Given the description of an element on the screen output the (x, y) to click on. 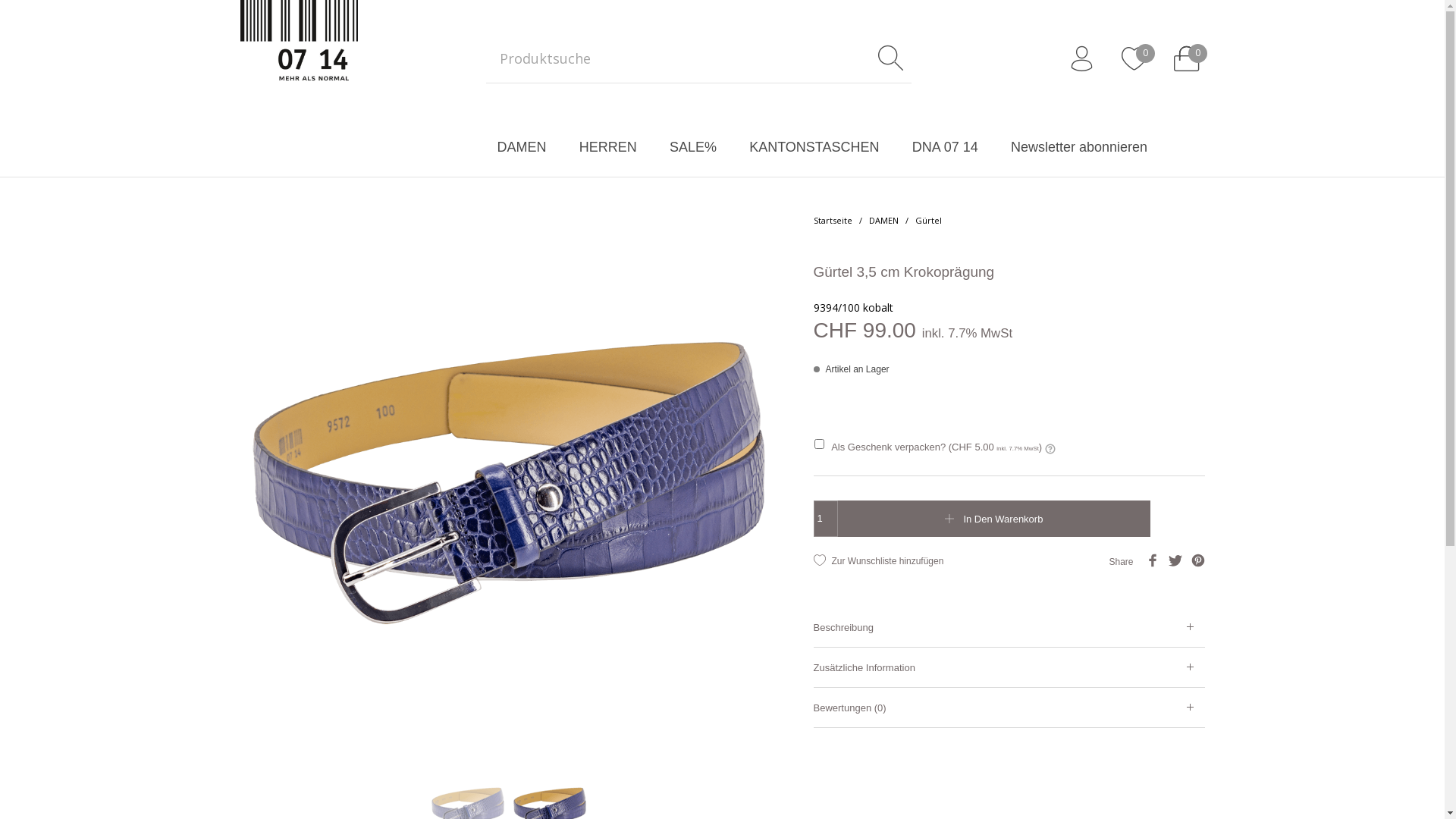
Bewertungen (0) Element type: text (1008, 707)
0 Element type: text (1186, 58)
DNA 07 14 Element type: text (944, 147)
SALE% Element type: text (692, 147)
07 14 Element type: hover (298, 58)
Newsletter abonnieren Element type: text (1078, 147)
KANTONSTASCHEN Element type: text (814, 147)
Beschreibung Element type: text (1008, 626)
DAMEN Element type: text (883, 219)
Startseite Element type: text (831, 219)
HERREN Element type: text (607, 147)
0714_9394_kobalt_V.png Element type: hover (507, 481)
In Den Warenkorb Element type: text (993, 518)
0 Element type: text (1133, 58)
DAMEN Element type: text (521, 147)
